Given the description of an element on the screen output the (x, y) to click on. 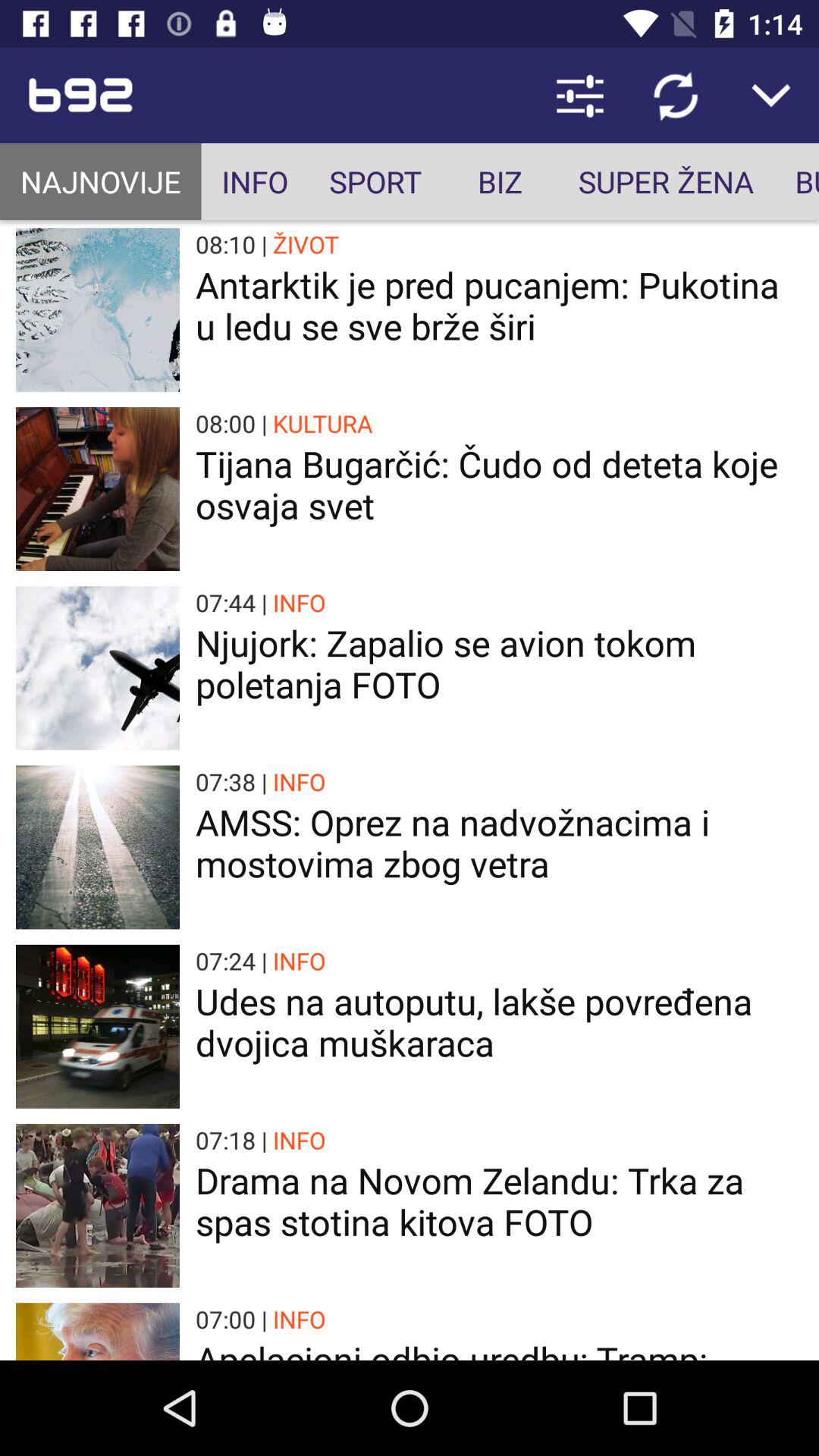
swipe until the apelacioni odbio uredbu item (499, 1347)
